Given the description of an element on the screen output the (x, y) to click on. 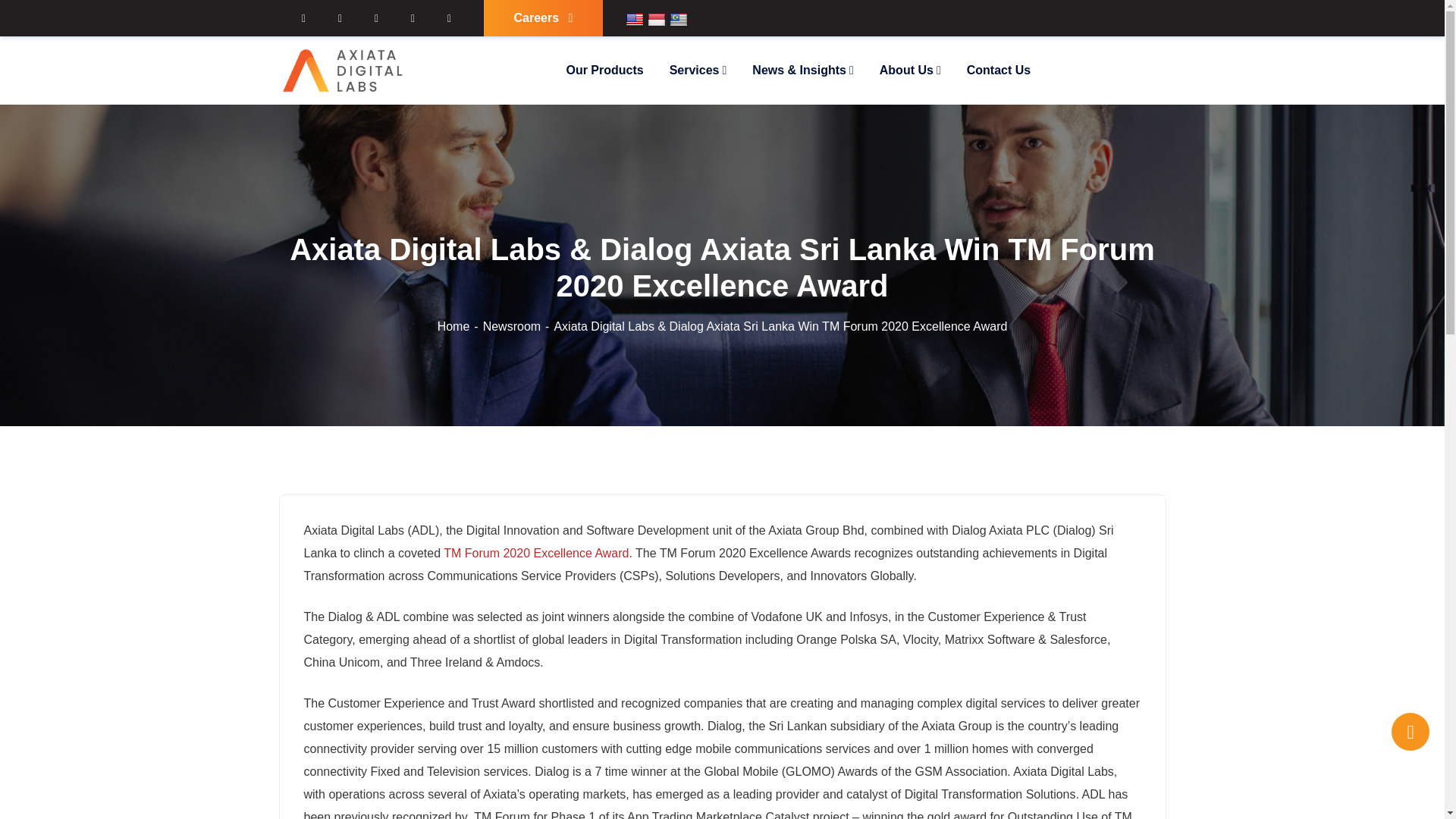
Home (460, 326)
Contact Us (998, 70)
Axiata Digital Labs - Advancing Digital Labs (344, 69)
Malay (678, 19)
Services (697, 70)
Indonesian (656, 19)
English (634, 19)
About Us (909, 70)
Careers (543, 18)
Our Products (604, 70)
